Given the description of an element on the screen output the (x, y) to click on. 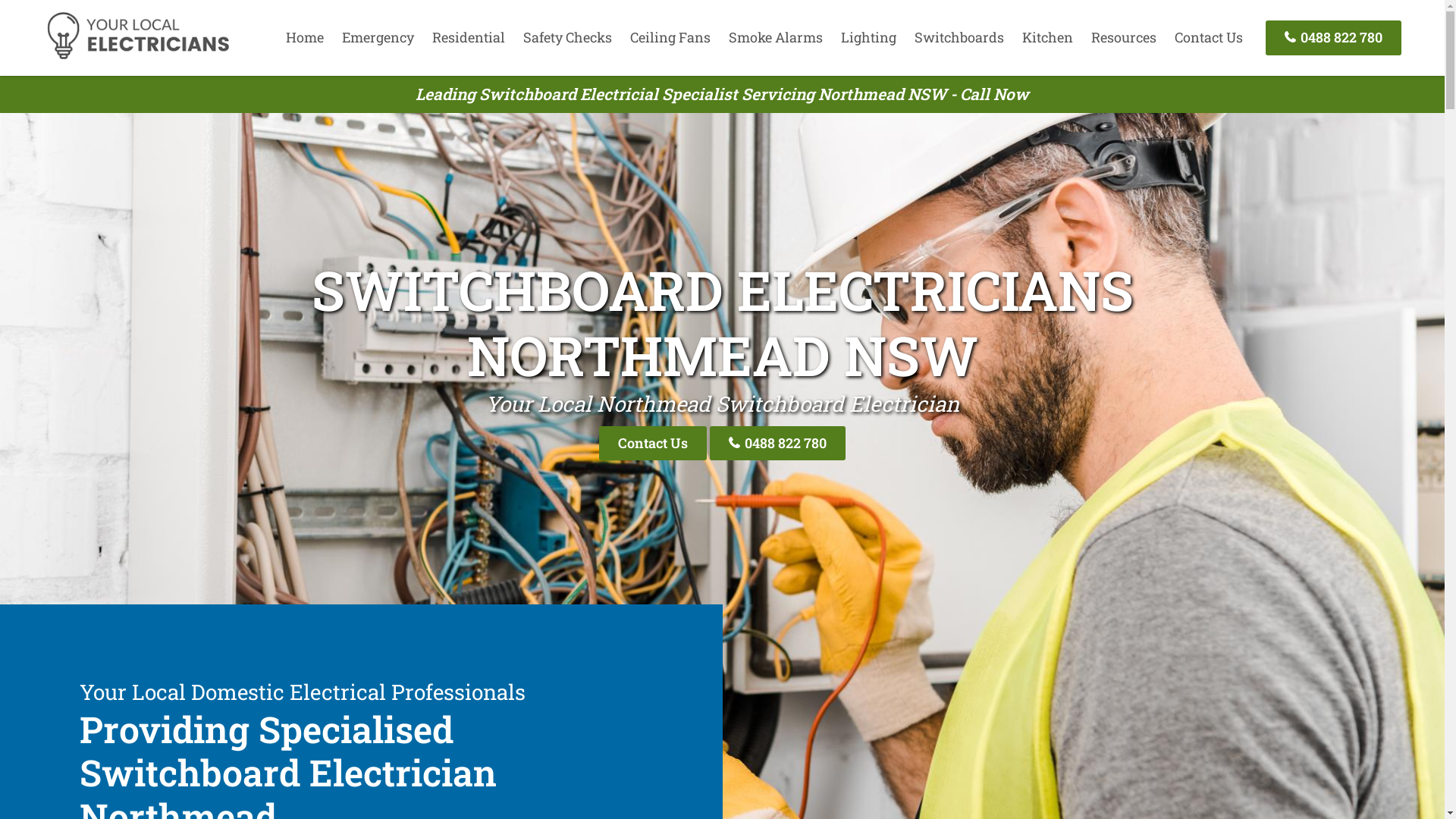
0488 822 780 Element type: text (1333, 37)
Switchboards Element type: text (958, 37)
Kitchen Element type: text (1047, 37)
Contact Us Element type: text (1208, 37)
Home Element type: text (304, 37)
Ceiling Fans Element type: text (670, 37)
0488 822 780 Element type: text (777, 443)
Lighting Element type: text (868, 37)
Contact Us Element type: text (652, 443)
Emergency Element type: text (377, 37)
Safety Checks Element type: text (567, 37)
Smoke Alarms Element type: text (775, 37)
Residential Element type: text (468, 37)
Resources Element type: text (1123, 37)
Electricians Element type: hover (137, 56)
